Given the description of an element on the screen output the (x, y) to click on. 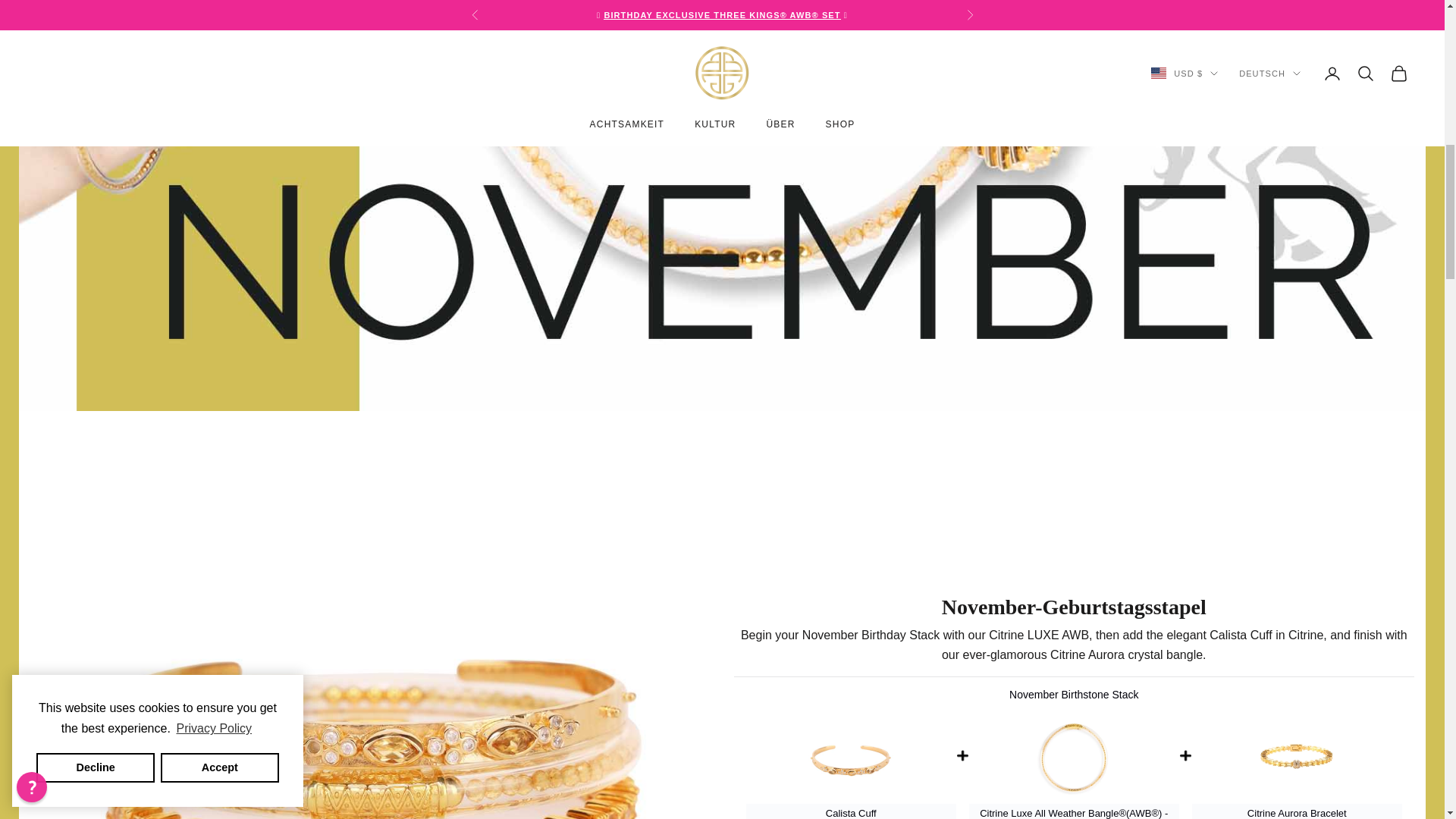
Calista Cuff (850, 757)
Citrine Aurora Bracelet (1297, 757)
Calista Cuff (850, 813)
Citrine Aurora Bracelet (1297, 813)
